Given the description of an element on the screen output the (x, y) to click on. 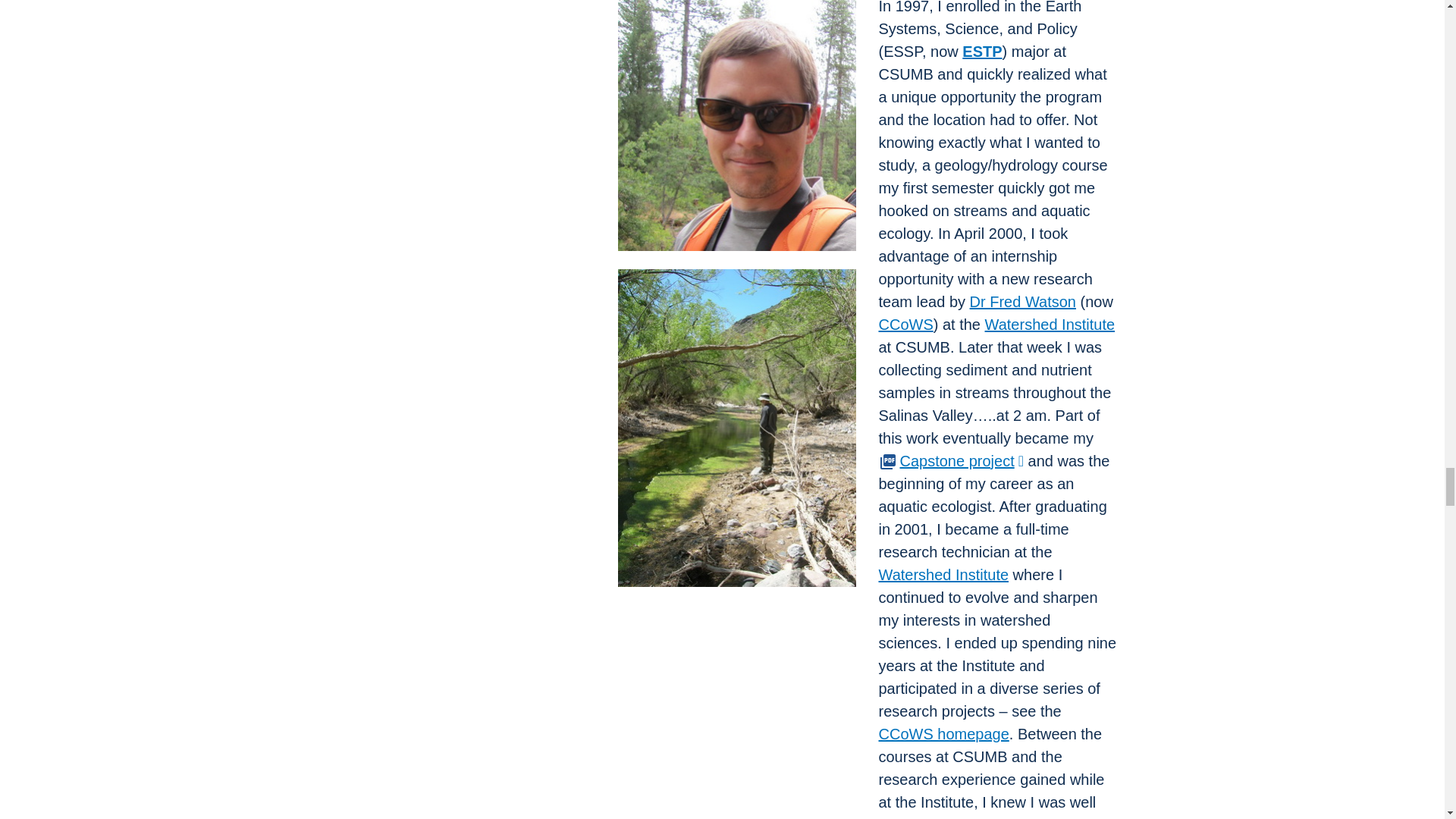
View PDF (886, 461)
